Given the description of an element on the screen output the (x, y) to click on. 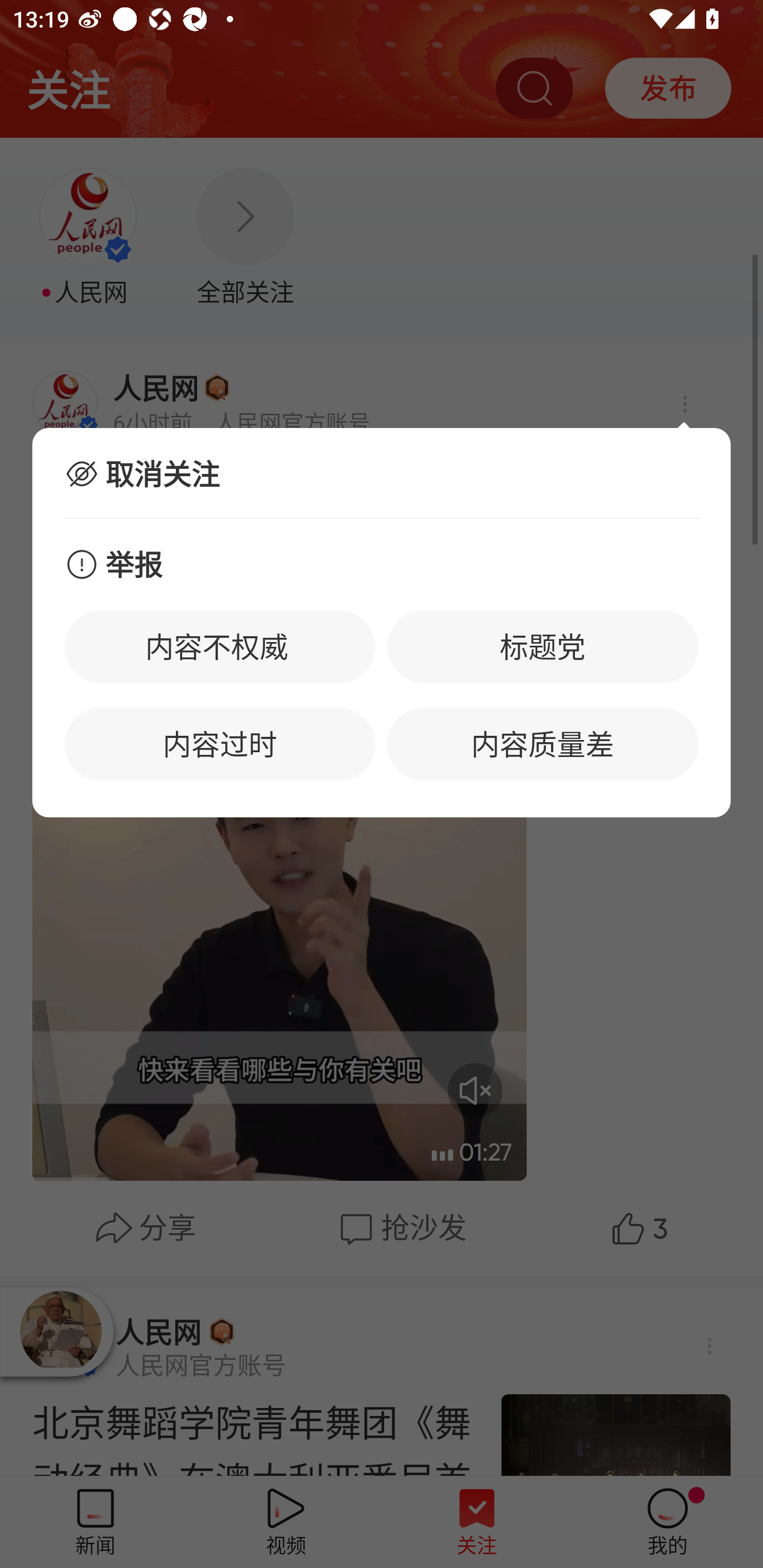
两会·聊点啥｜这些暖心政策与你有关 (381, 478)
内容不权威  (219, 646)
标题党 (542, 646)
内容过时 (219, 743)
内容质量差 (542, 743)
